Given the description of an element on the screen output the (x, y) to click on. 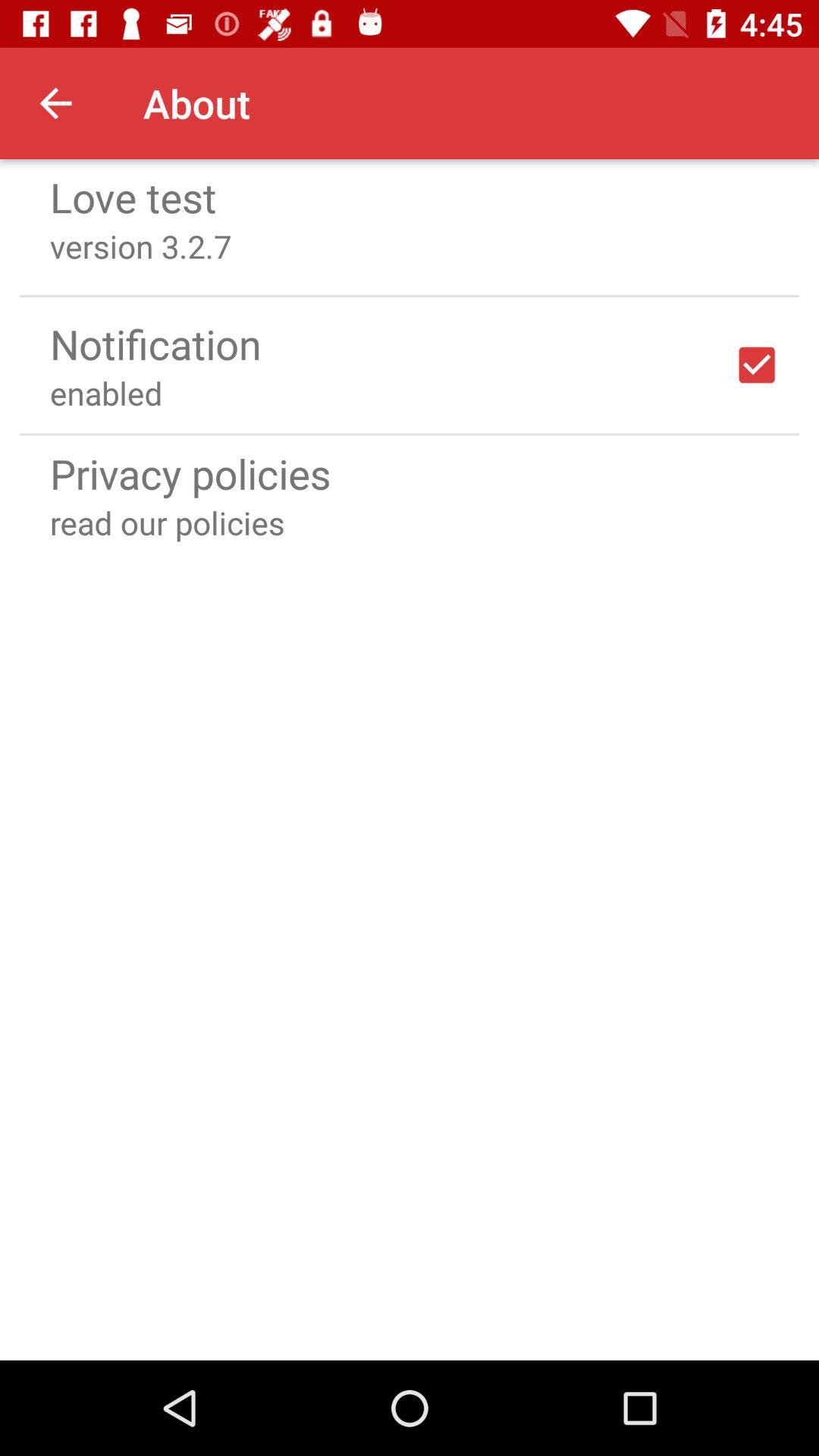
launch item next to notification (756, 364)
